Given the description of an element on the screen output the (x, y) to click on. 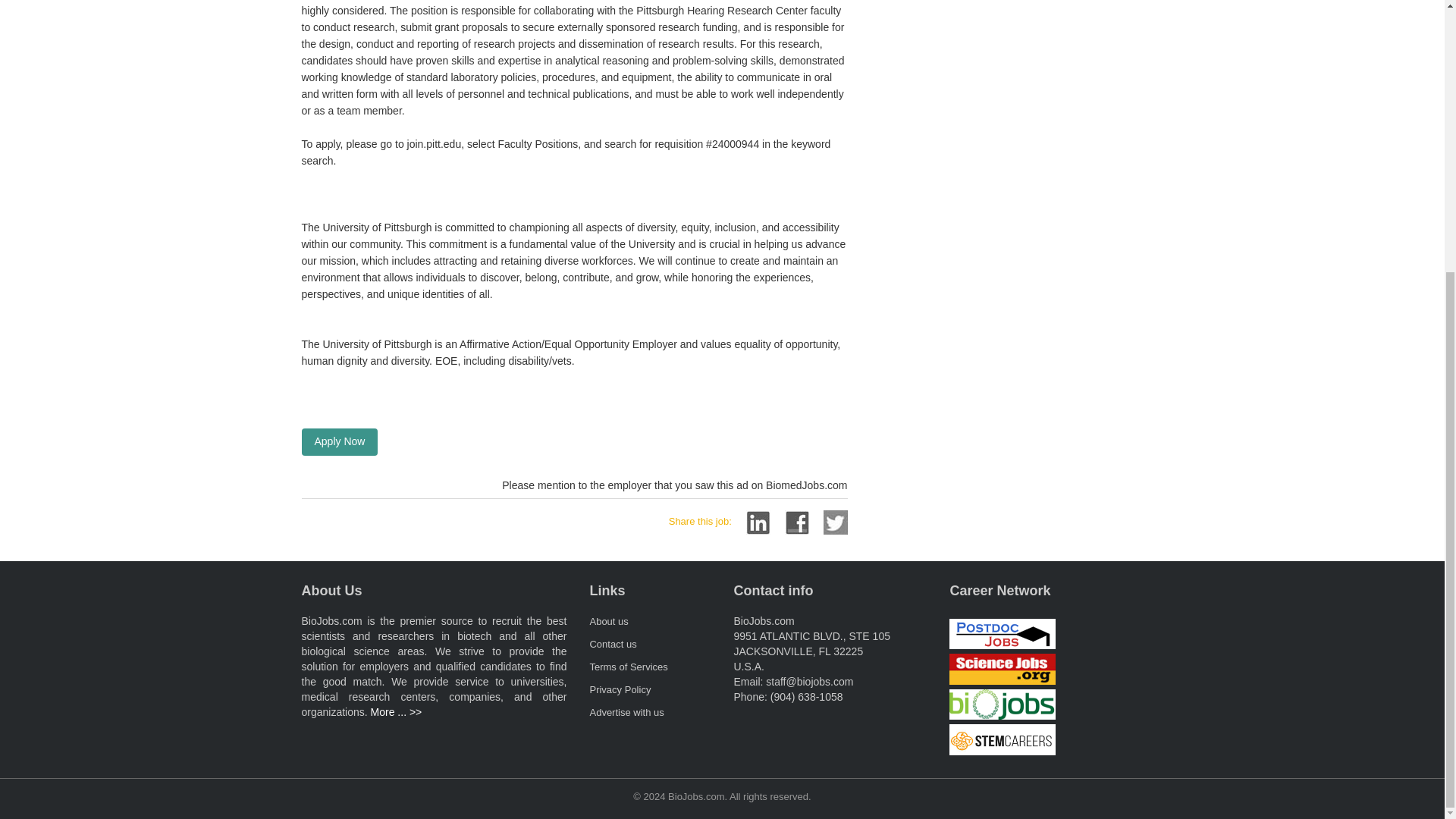
Apply Now (339, 441)
Terms of Services (627, 666)
Contact us (612, 644)
Privacy Policy (619, 689)
Advertise with us (626, 712)
About us (608, 621)
